Given the description of an element on the screen output the (x, y) to click on. 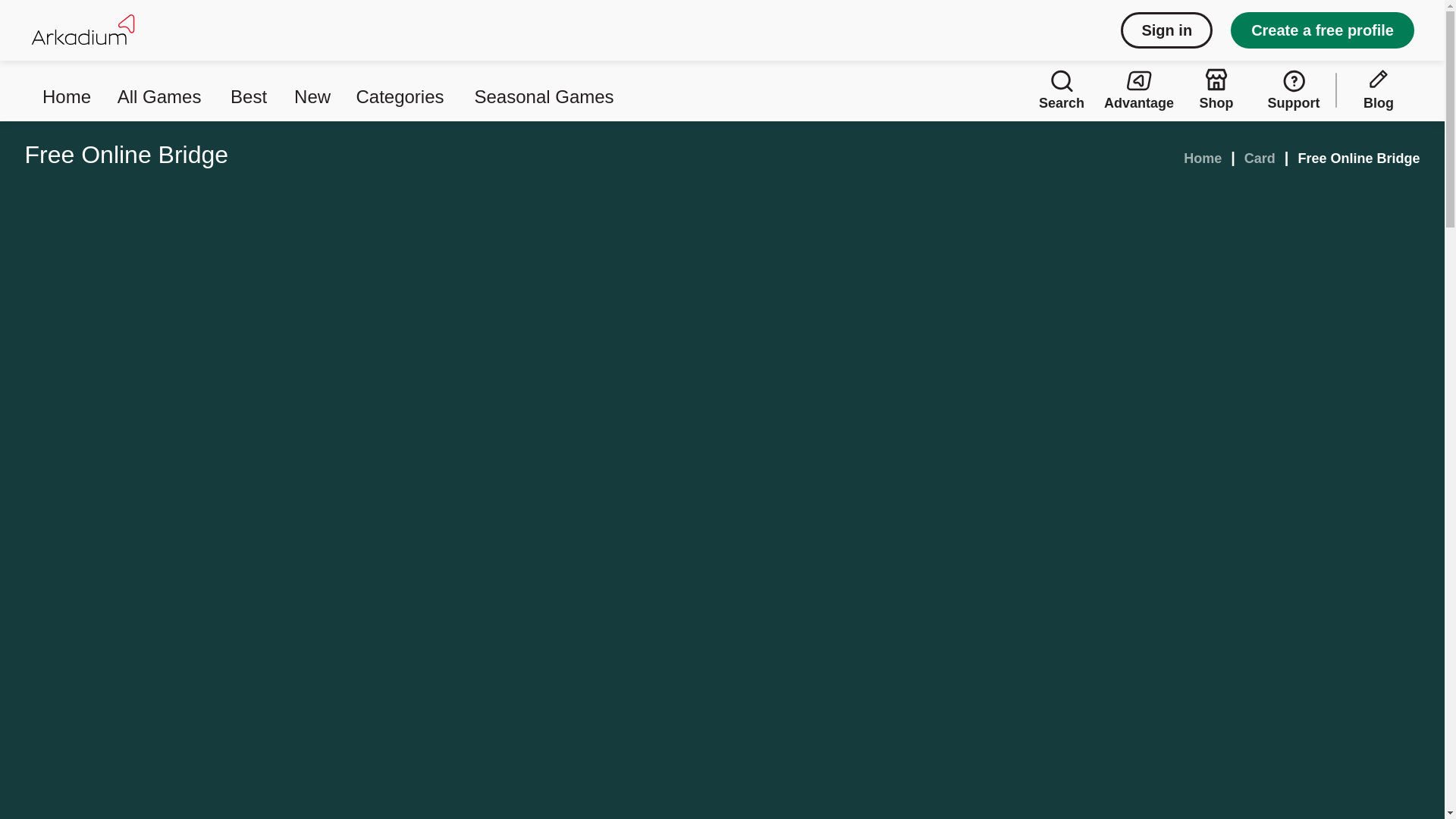
Seasonal Games (544, 89)
Create a free profile (1321, 30)
Blog (1377, 89)
New (312, 89)
Categories (402, 89)
Best (250, 89)
Card (1259, 158)
Home (1202, 158)
Go to Home (1202, 158)
Advantage (1138, 89)
